Given the description of an element on the screen output the (x, y) to click on. 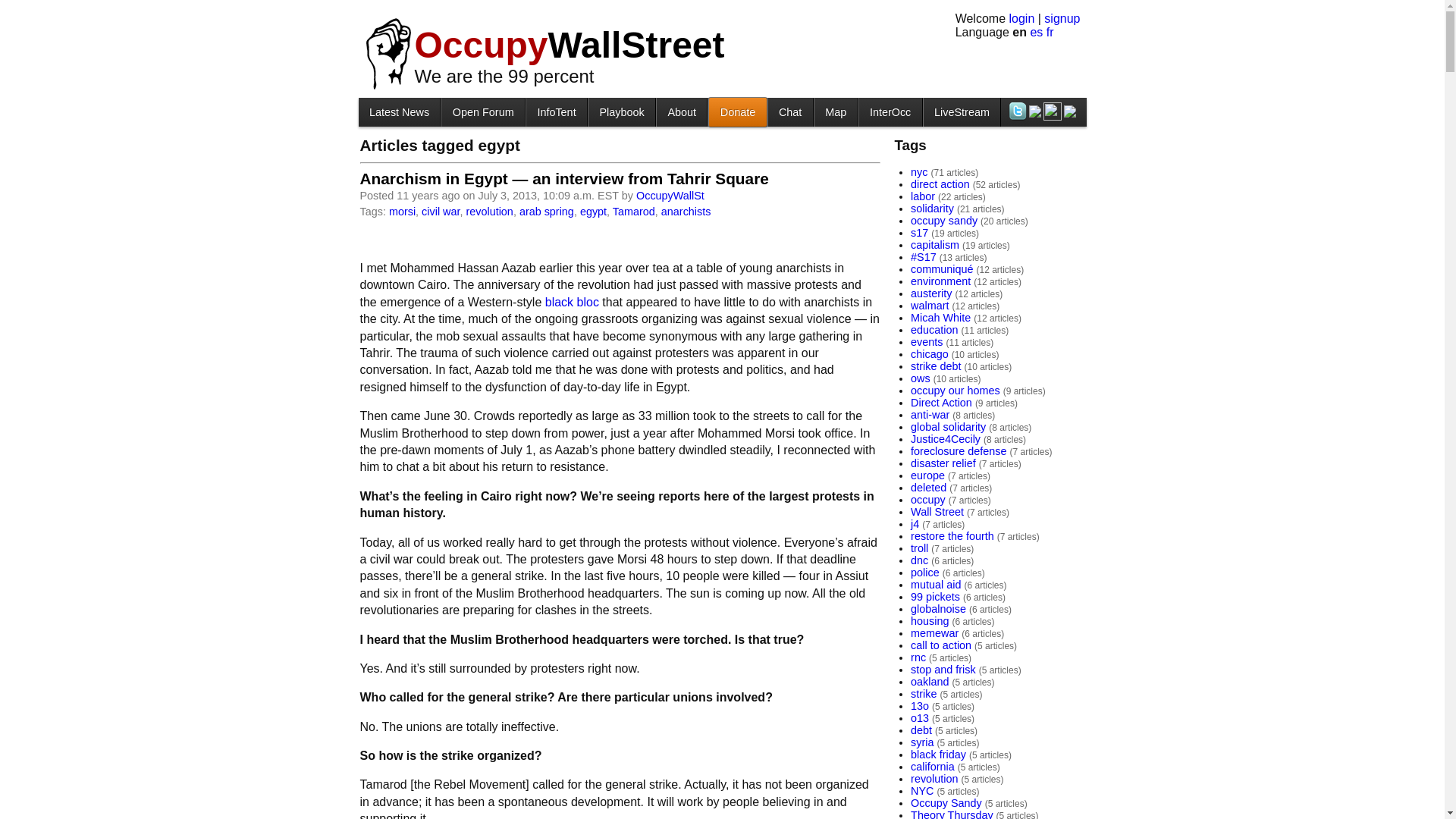
About Us (681, 111)
Playbook (621, 111)
Public discussion board (482, 111)
morsi (401, 211)
egypt (593, 211)
Online Guide to the Occupy movement (555, 111)
Tamarod (633, 211)
InfoTent (555, 111)
OccupyWallSt (670, 195)
arab spring (546, 211)
